Given the description of an element on the screen output the (x, y) to click on. 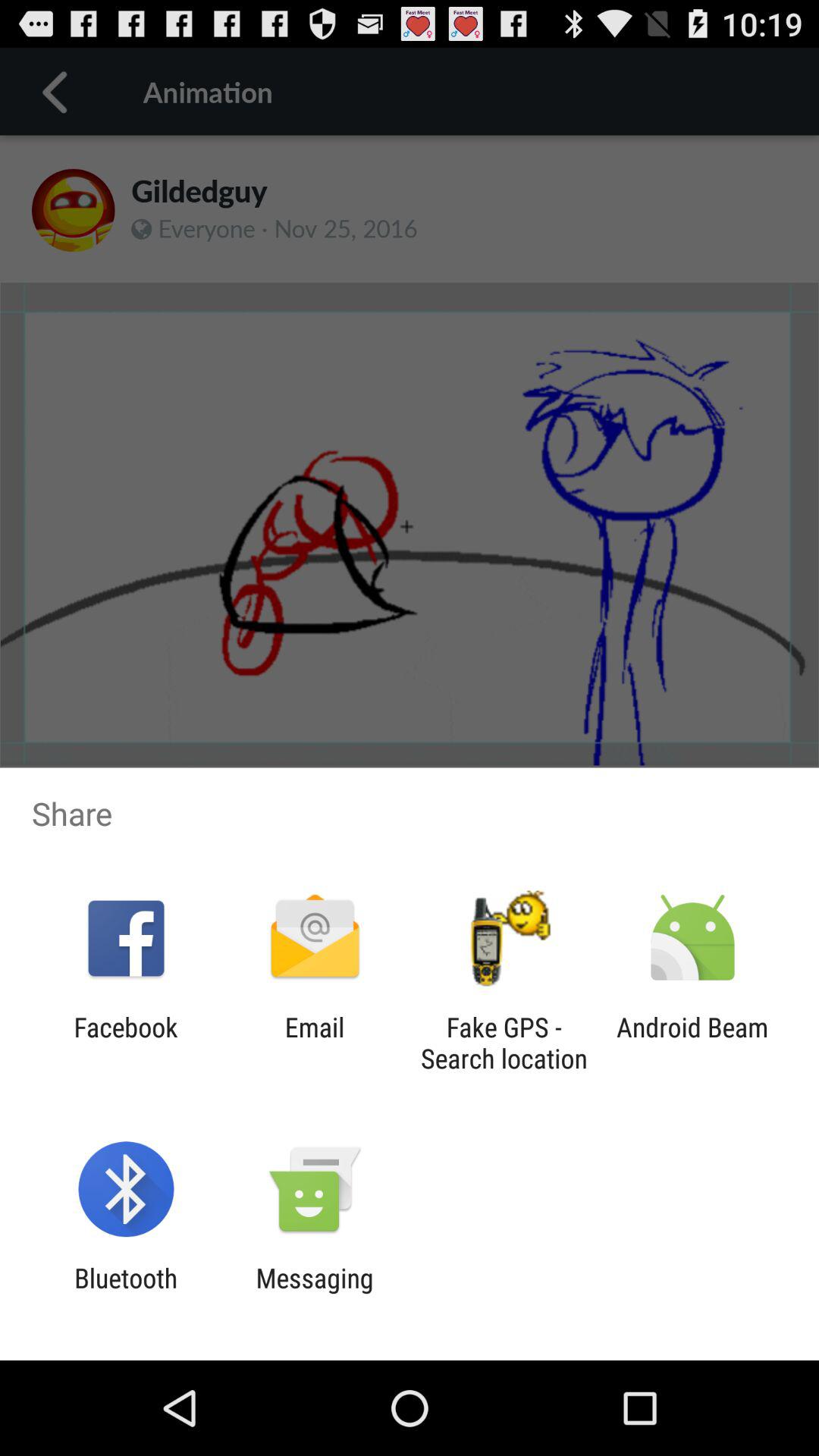
launch the app to the right of email item (503, 1042)
